Given the description of an element on the screen output the (x, y) to click on. 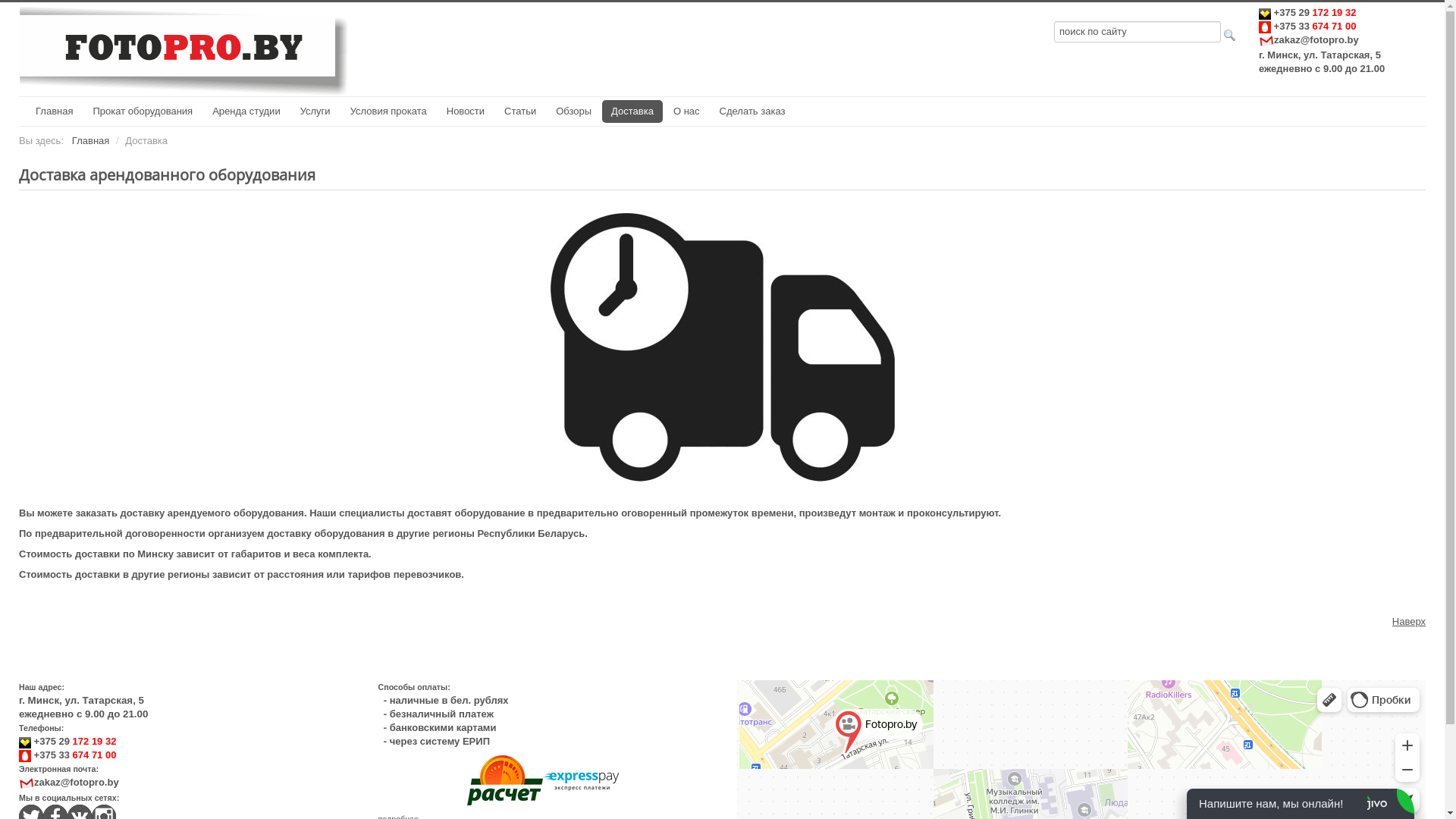
+375 29 172 19 32 Element type: text (1306, 12)
zakaz@fotopro.by Element type: text (1308, 39)
+375 29 172 19 32 Element type: text (67, 740)
+375 33 674 71 00 Element type: text (67, 754)
+375 33 674 71 00 Element type: text (1306, 25)
zakaz@fotopro.by Element type: text (68, 781)
